Given the description of an element on the screen output the (x, y) to click on. 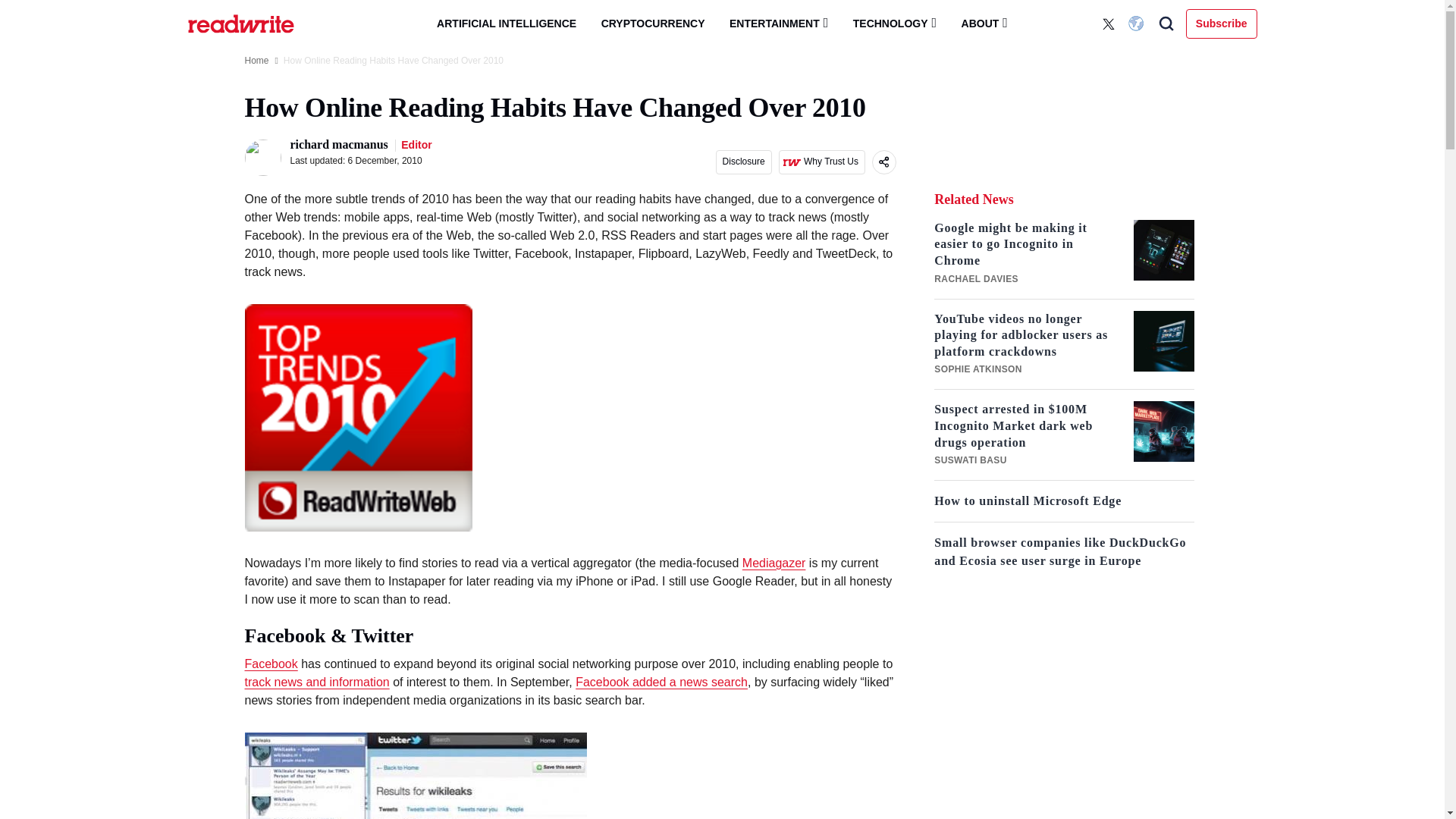
ABOUT (983, 23)
Home (255, 60)
Subscribe (1221, 23)
CRYPTOCURRENCY (653, 23)
TECHNOLOGY (895, 23)
ARTIFICIAL INTELLIGENCE (506, 23)
English (1137, 23)
ENTERTAINMENT (778, 23)
